Given the description of an element on the screen output the (x, y) to click on. 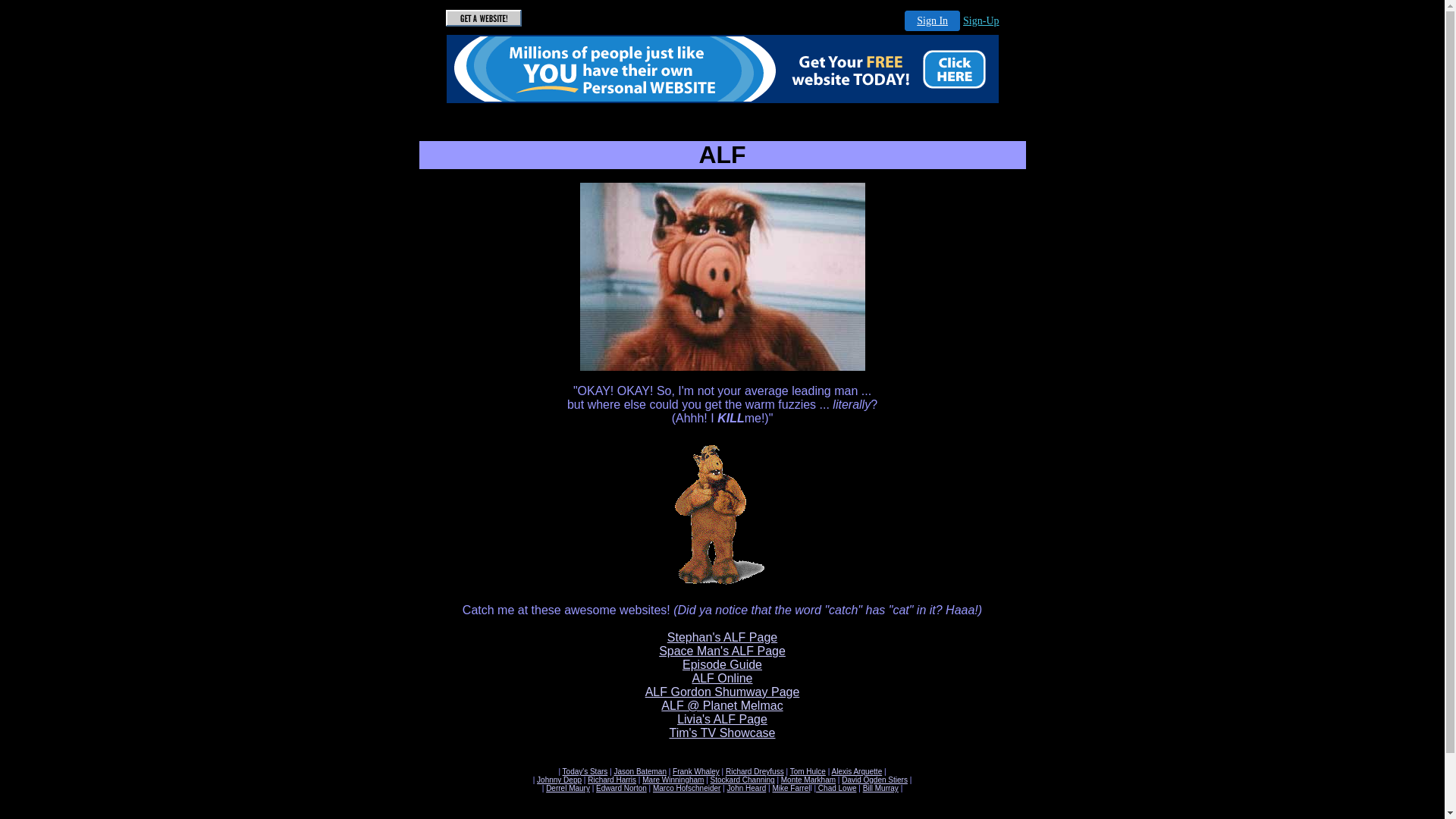
Monte Markham Element type: text (808, 779)
Frank Whaley Element type: text (695, 771)
Mike Farrel Element type: text (790, 788)
ALF @ Planet Melmac Element type: text (721, 705)
Alexis Arquette Element type: text (856, 771)
Tim's TV Showcase Element type: text (721, 732)
David Ogden Stiers Element type: text (874, 779)
ALF Online Element type: text (721, 677)
Edward Norton Element type: text (621, 788)
Bill Murray Element type: text (880, 788)
Johnny Depp Element type: text (558, 779)
ALF Gordon Shumway Page Element type: text (722, 691)
Sign In Element type: text (932, 20)
John Heard Element type: text (746, 788)
Today's Stars Element type: text (585, 771)
Stockard Channing Element type: text (742, 779)
Richard Dreyfuss Element type: text (754, 771)
Marco Hofschneider Element type: text (686, 788)
Jason Bateman Element type: text (639, 771)
Stephan's ALF Page Element type: text (722, 636)
Livia's ALF Page Element type: text (722, 718)
Tom Hulce Element type: text (807, 771)
Sign-Up Element type: text (980, 20)
Mare Winningham Element type: text (672, 779)
Space Man's ALF Page Element type: text (721, 650)
Episode Guide Element type: text (722, 664)
Richard Harris Element type: text (611, 779)
Chad Lowe Element type: text (835, 788)
Derrel Maury Element type: text (567, 788)
